Given the description of an element on the screen output the (x, y) to click on. 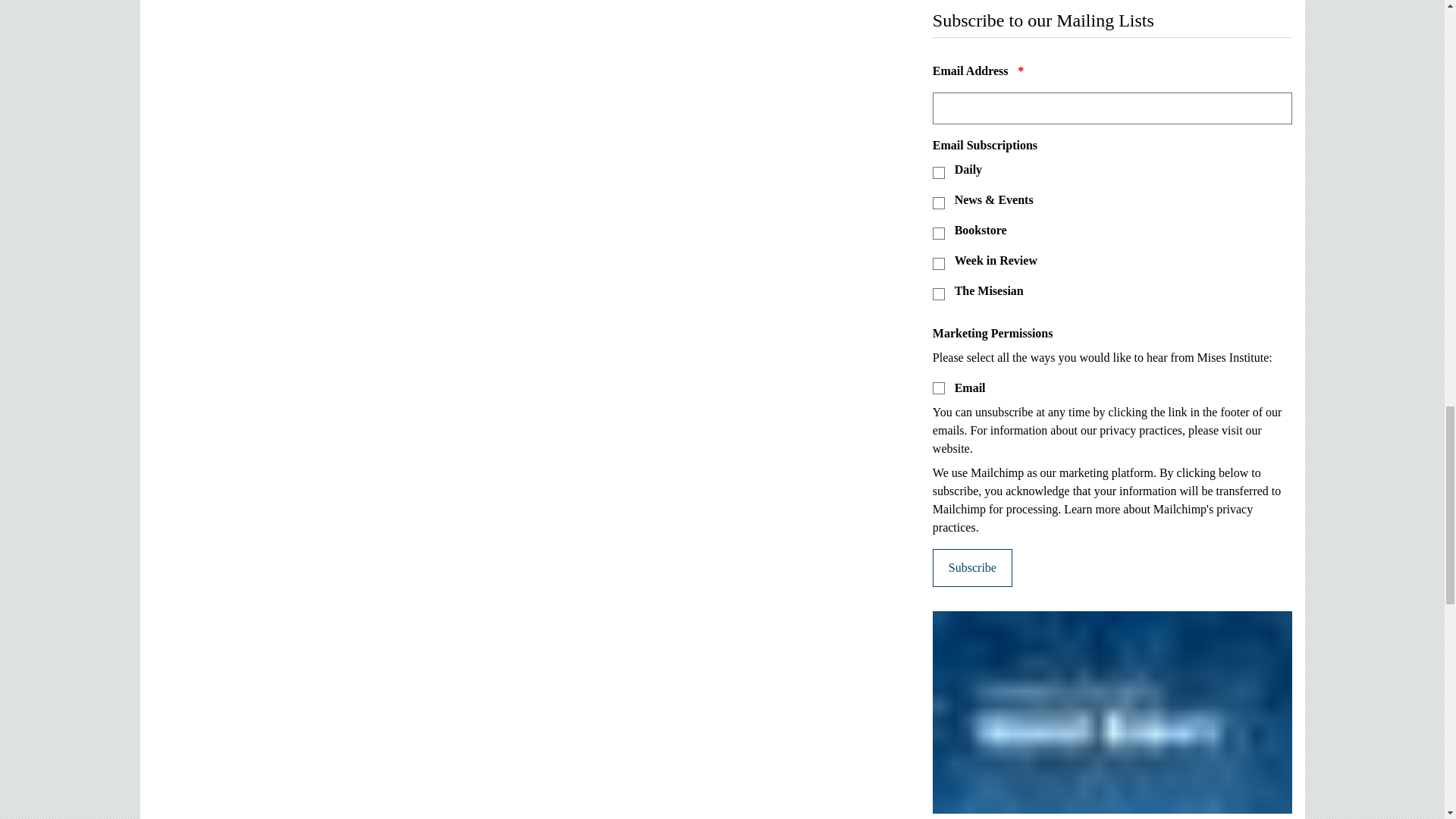
Subscribe (972, 567)
Y (938, 387)
